Given the description of an element on the screen output the (x, y) to click on. 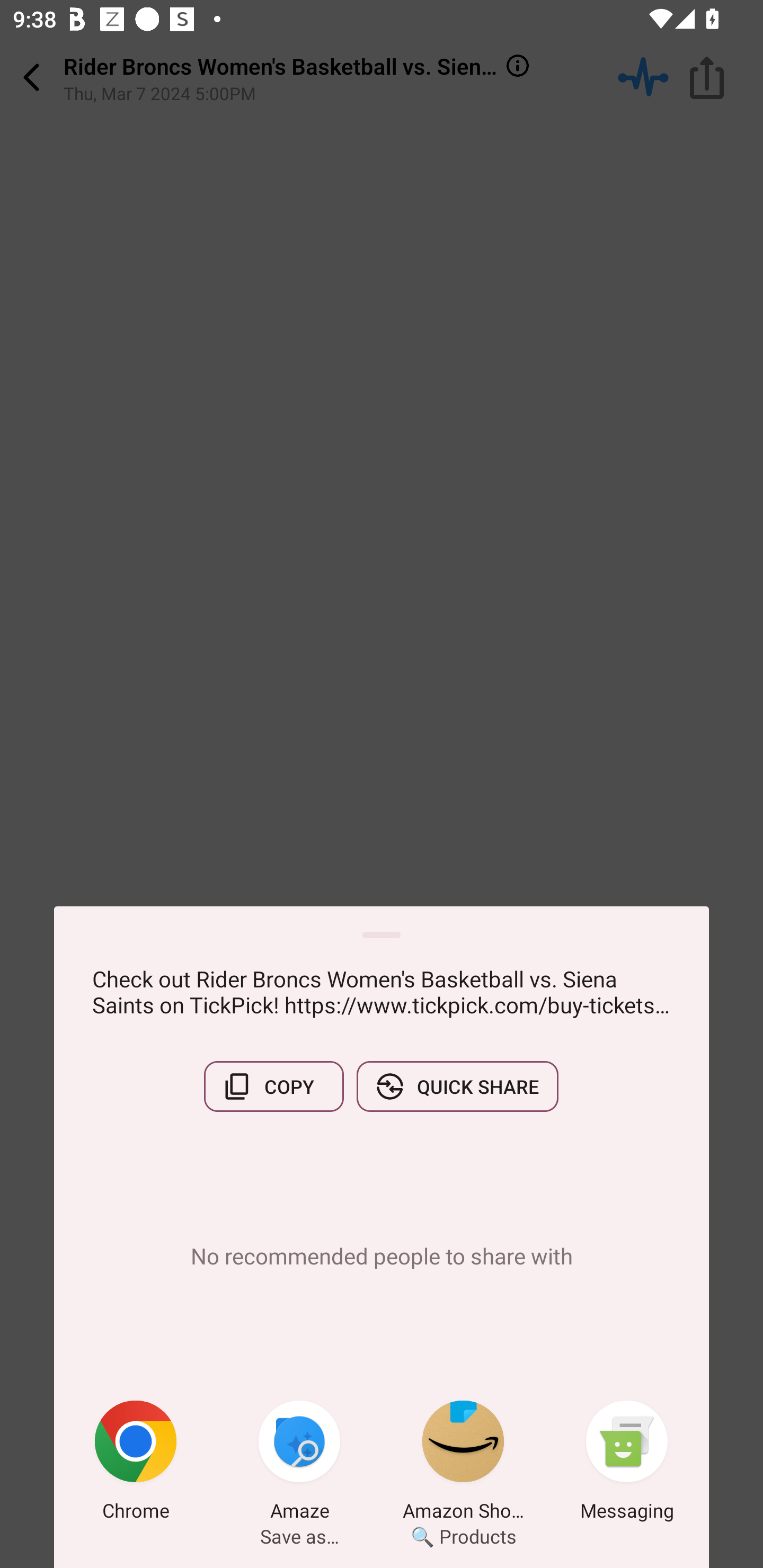
COPY (273, 1086)
QUICK SHARE (457, 1086)
Chrome (135, 1463)
Amaze Save as… (299, 1463)
Amazon Shopping 🔍 Products (463, 1463)
Messaging (626, 1463)
